Given the description of an element on the screen output the (x, y) to click on. 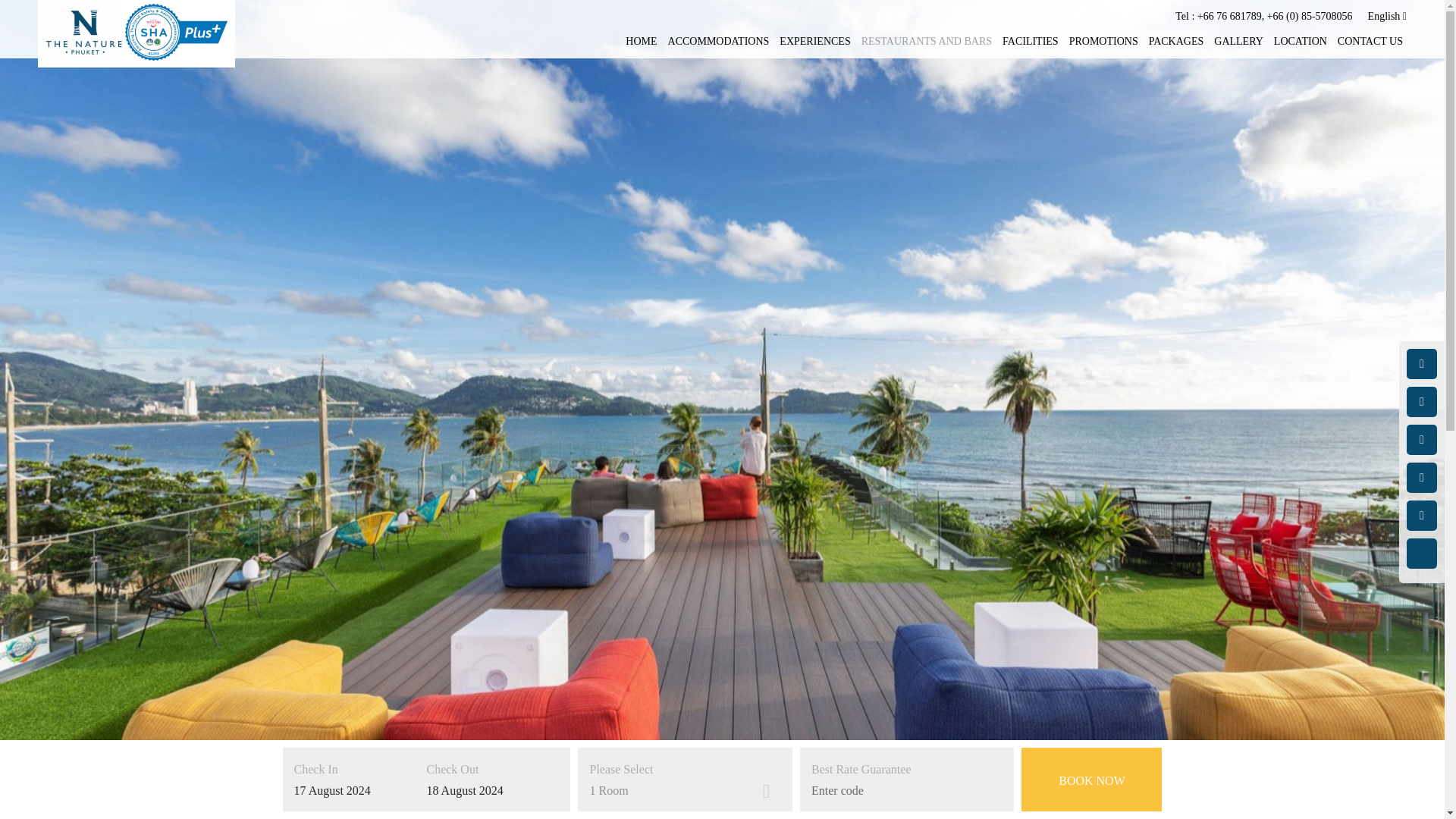
PACKAGES (1176, 41)
GALLERY (1238, 41)
LOCATION (1300, 41)
EXPERIENCES (814, 41)
HOME (641, 41)
Book Now (1091, 779)
ACCOMMODATIONS (719, 41)
CONTACT US (1370, 41)
PROMOTIONS (1103, 41)
FACILITIES (1030, 41)
